Given the description of an element on the screen output the (x, y) to click on. 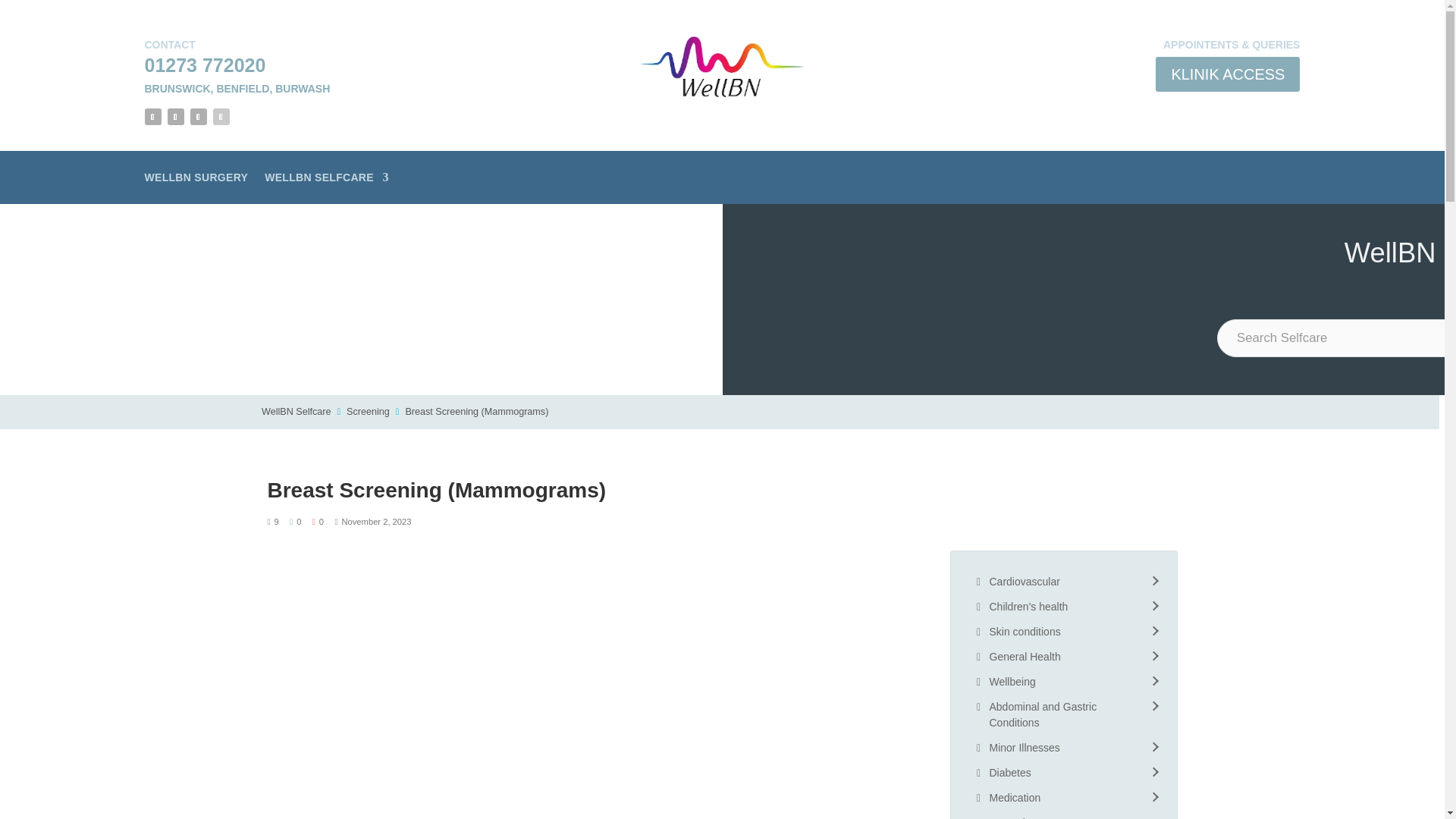
BENFIELD (242, 88)
01273 772020 (204, 65)
BRUNSWICK (176, 88)
WELLBN SELFCARE (326, 180)
Follow on LinkedIn (220, 116)
Follow on Facebook (152, 116)
KLINIK ACCESS (1228, 73)
Follow on X (175, 116)
Screening (368, 411)
Follow on Instagram (197, 116)
WELLBN SURGERY (195, 180)
WellBN Selfcare (296, 411)
BURWASH (302, 88)
